Given the description of an element on the screen output the (x, y) to click on. 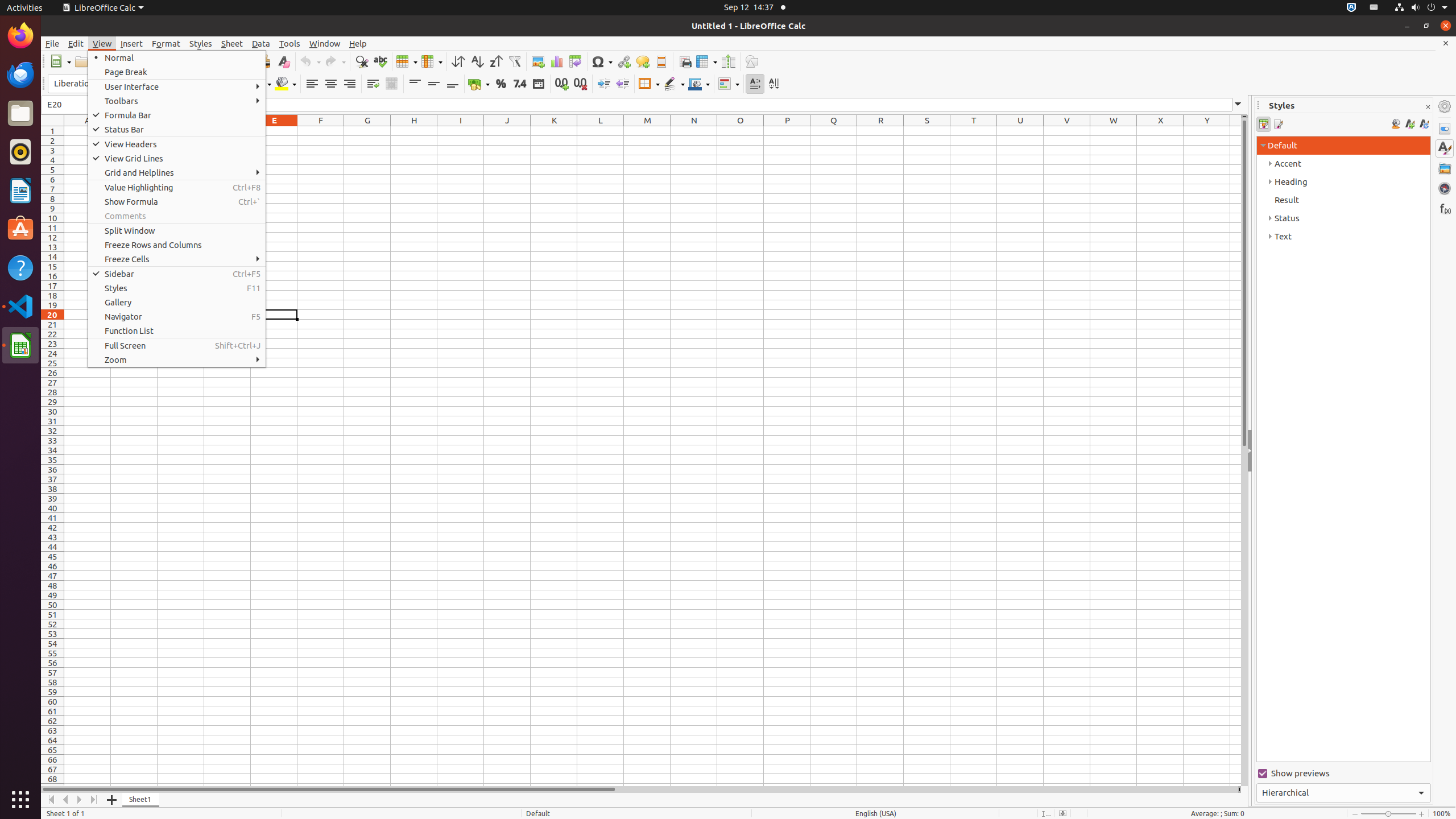
Status Bar Element type: check-menu-item (176, 129)
Expand Formula Bar Element type: push-button (1237, 104)
Move To Home Element type: push-button (51, 799)
New Style from Selection Element type: push-button (1409, 123)
Thunderbird Mail Element type: push-button (20, 74)
